Given the description of an element on the screen output the (x, y) to click on. 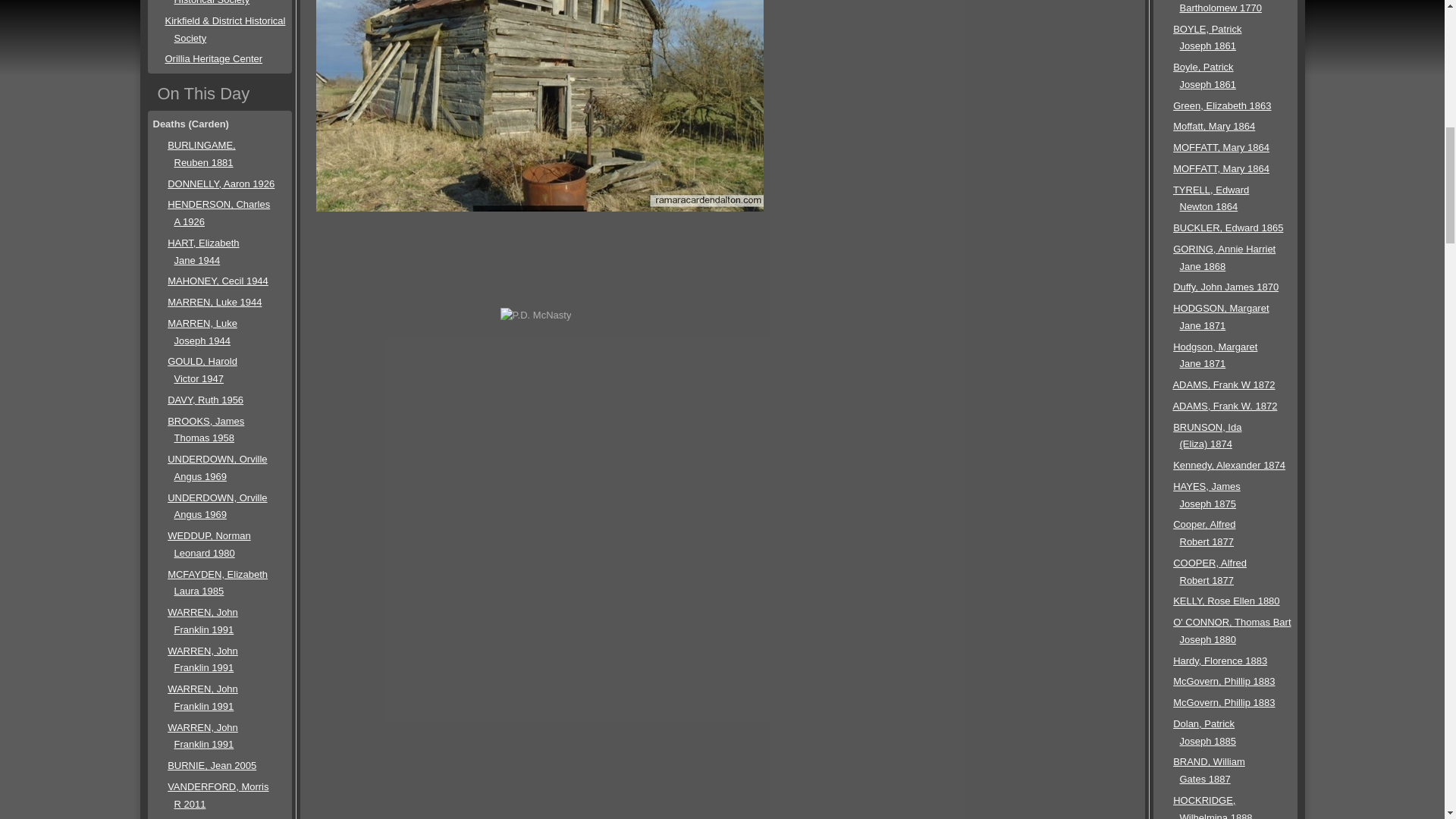
MCFAYDEN, Elizabeth Laura 1985 (217, 582)
WEDDUP, Norman Leonard 1980 (208, 543)
Beaverton Thorah Eldon Historical Society (218, 2)
UNDERDOWN, Orville Angus 1969 (216, 506)
UNDERDOWN, Orville Angus 1969 (216, 467)
MARREN, Luke Joseph 1944 (202, 331)
HART, Elizabeth Jane 1944 (202, 251)
WARREN, John Franklin 1991 (202, 620)
MARREN, Luke 1944 (214, 301)
Orillia Heritage Center (214, 58)
